Given the description of an element on the screen output the (x, y) to click on. 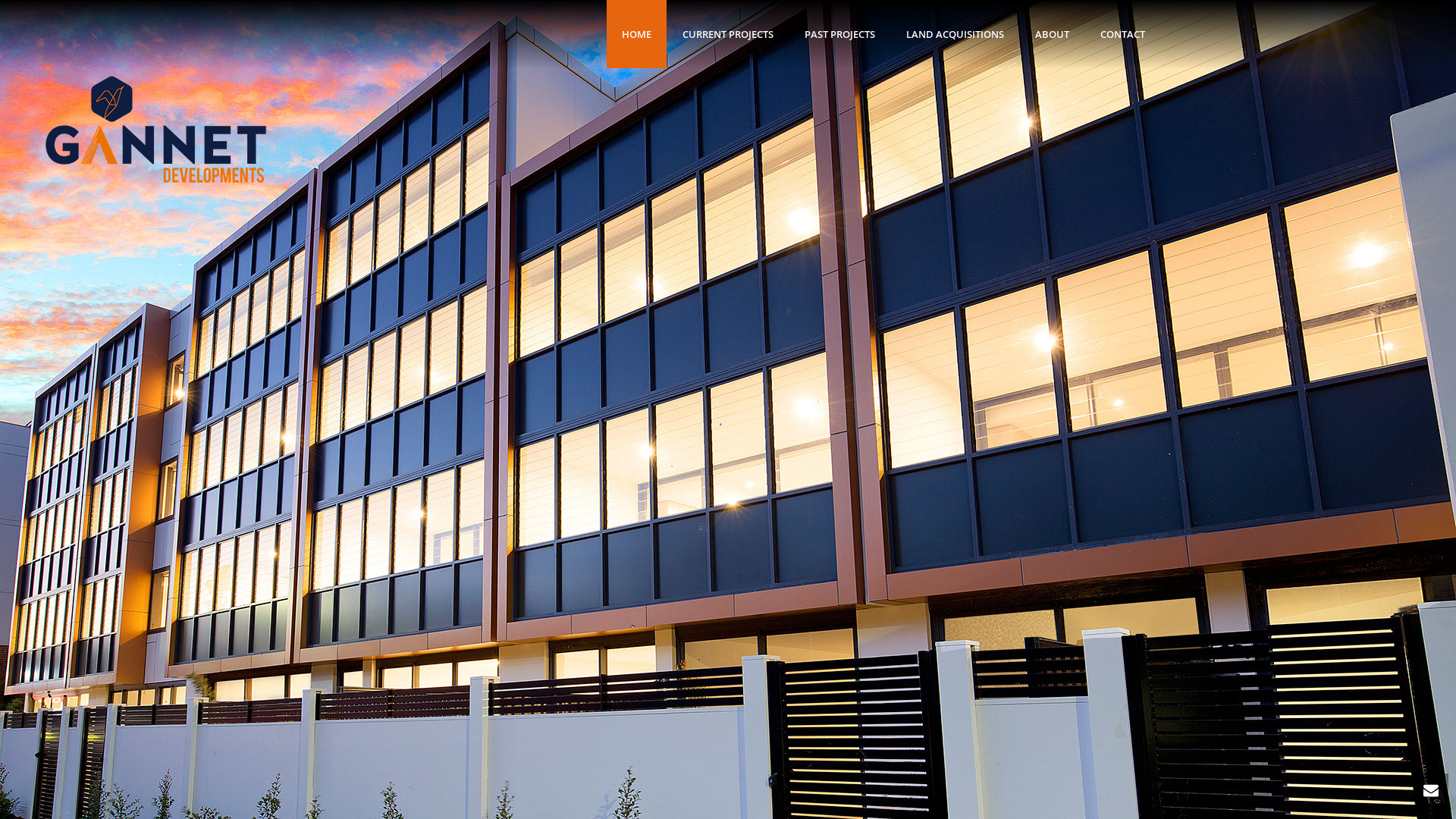
CURRENT PROJECTS Element type: text (727, 34)
ABOUT Element type: text (1051, 34)
LAND ACQUISITIONS Element type: text (955, 34)
HOME Element type: text (636, 34)
CONTACT Element type: text (1122, 34)
PAST PROJECTS Element type: text (839, 34)
